Given the description of an element on the screen output the (x, y) to click on. 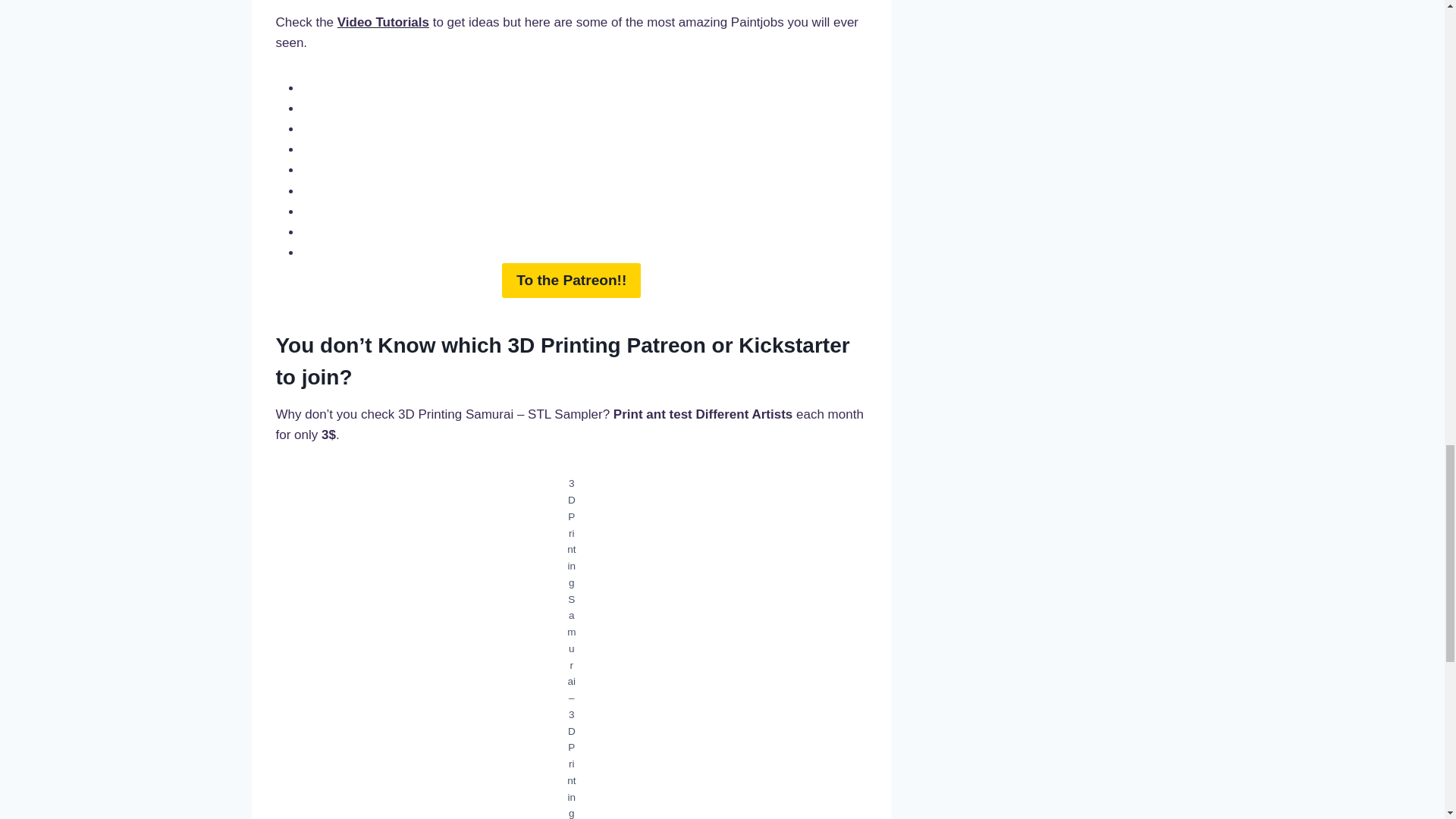
Video Tutorials (383, 22)
To the Patreon!! (571, 280)
